Given the description of an element on the screen output the (x, y) to click on. 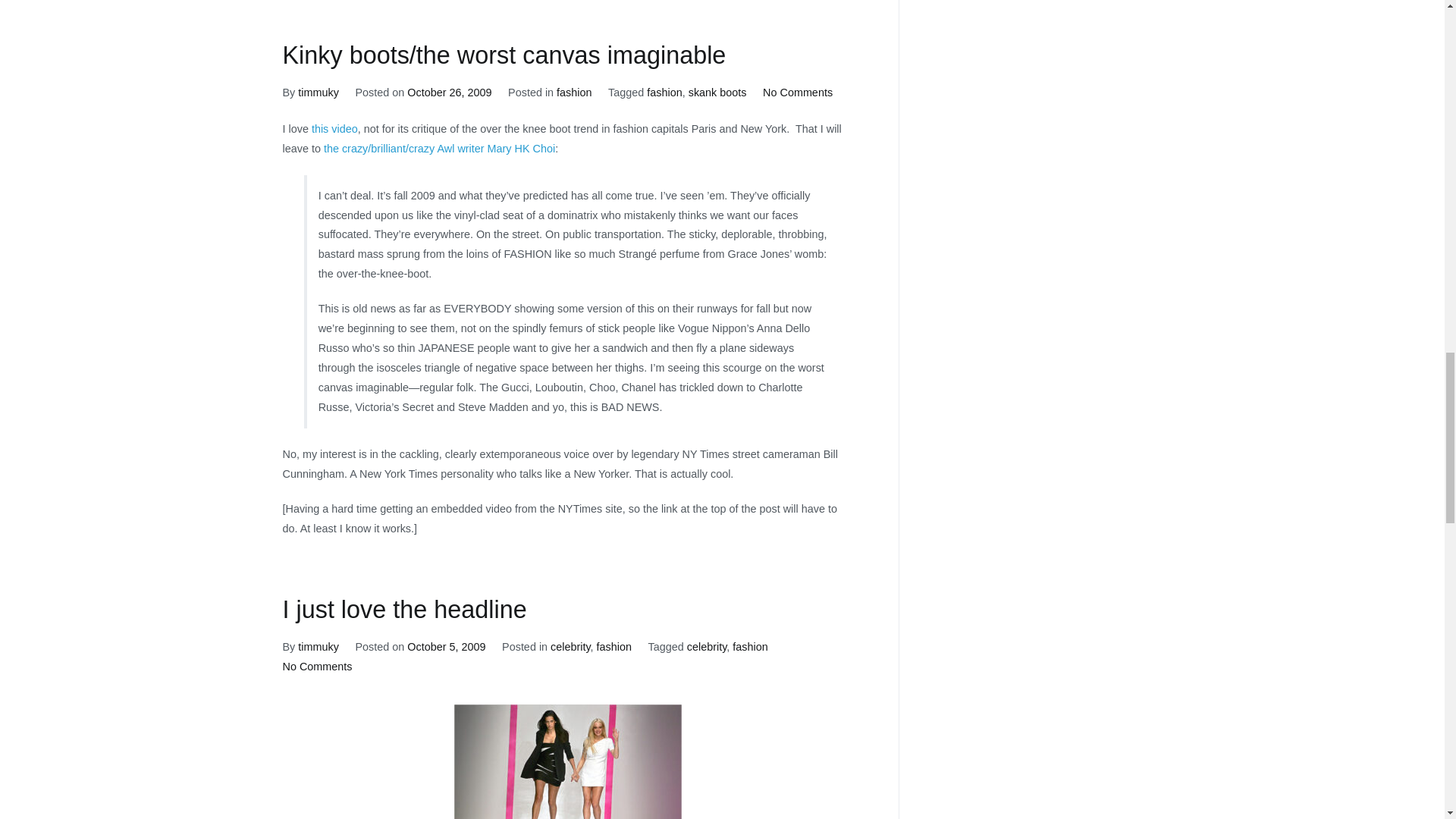
legs  (334, 128)
timmuky (318, 92)
